Given the description of an element on the screen output the (x, y) to click on. 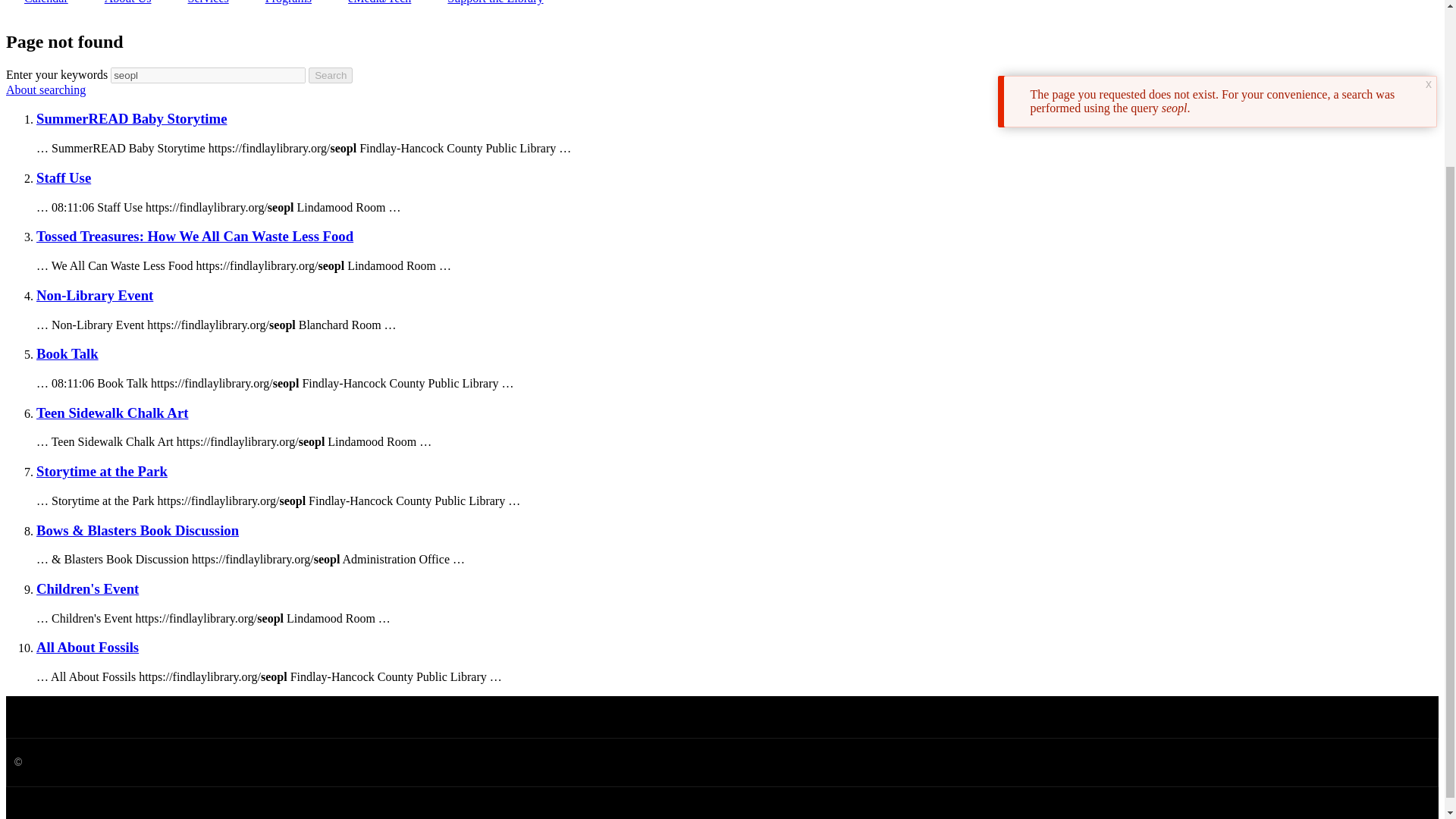
seopl (207, 75)
seopl (207, 75)
Programs (288, 8)
Calendar (45, 8)
About Us (127, 8)
Services (208, 8)
